Given the description of an element on the screen output the (x, y) to click on. 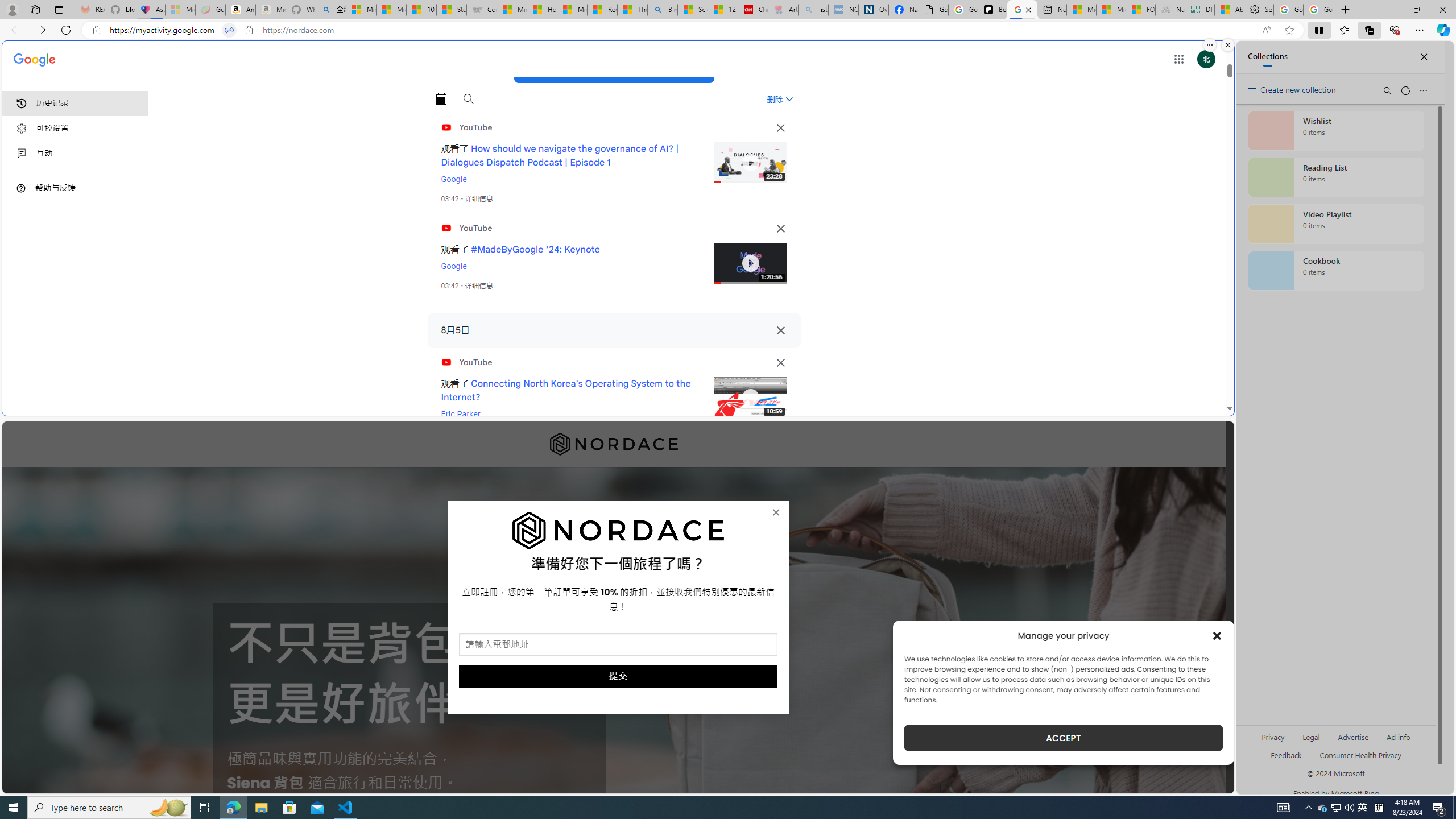
Google Analytics Opt-out Browser Add-on Download Page (933, 9)
AutomationID: input_5_1 (617, 644)
AutomationID: genId96 (1285, 759)
AutomationID: field_5_1 (617, 645)
Class: gb_E (1178, 59)
Class: IVR0f NMm5M (750, 397)
